Given the description of an element on the screen output the (x, y) to click on. 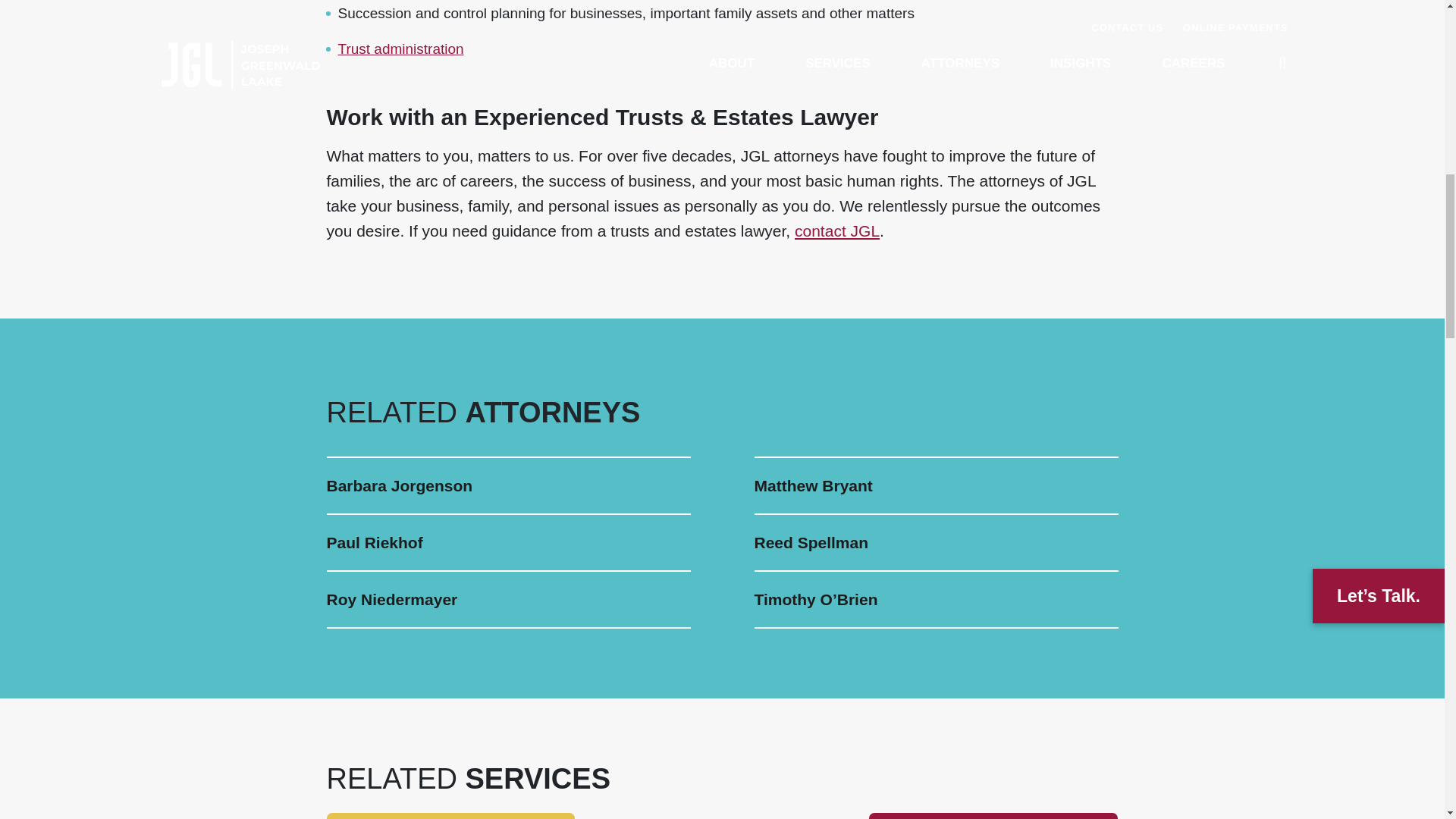
contact JGL (836, 230)
Trust administration (400, 48)
